Given the description of an element on the screen output the (x, y) to click on. 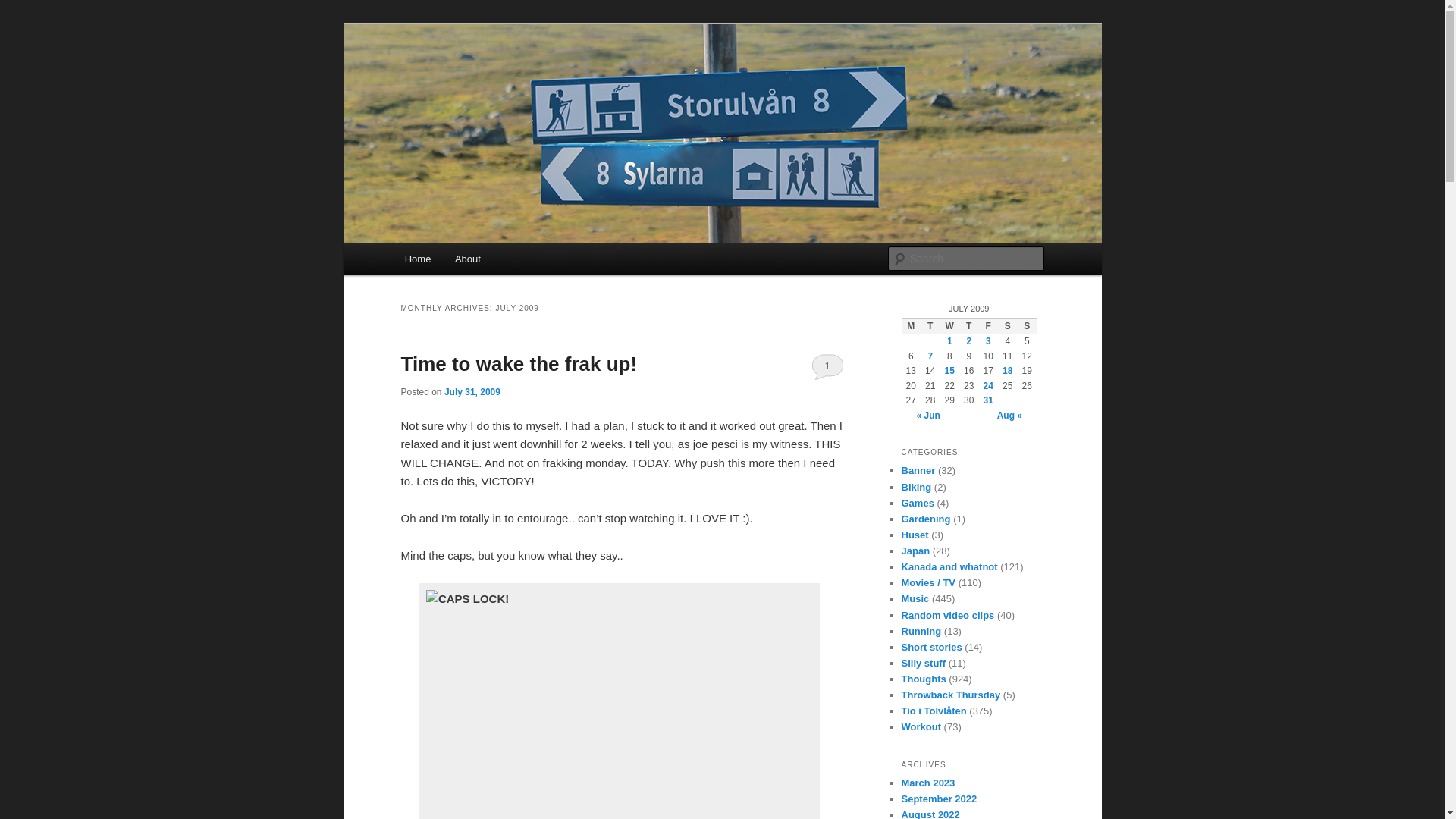
July 31, 2009 (472, 391)
Search (24, 8)
cruise control for cool (614, 704)
Time to wake the frak up! (518, 363)
1 (827, 366)
12:16 (472, 391)
Home (417, 258)
Tankarna (449, 78)
About (467, 258)
